Given the description of an element on the screen output the (x, y) to click on. 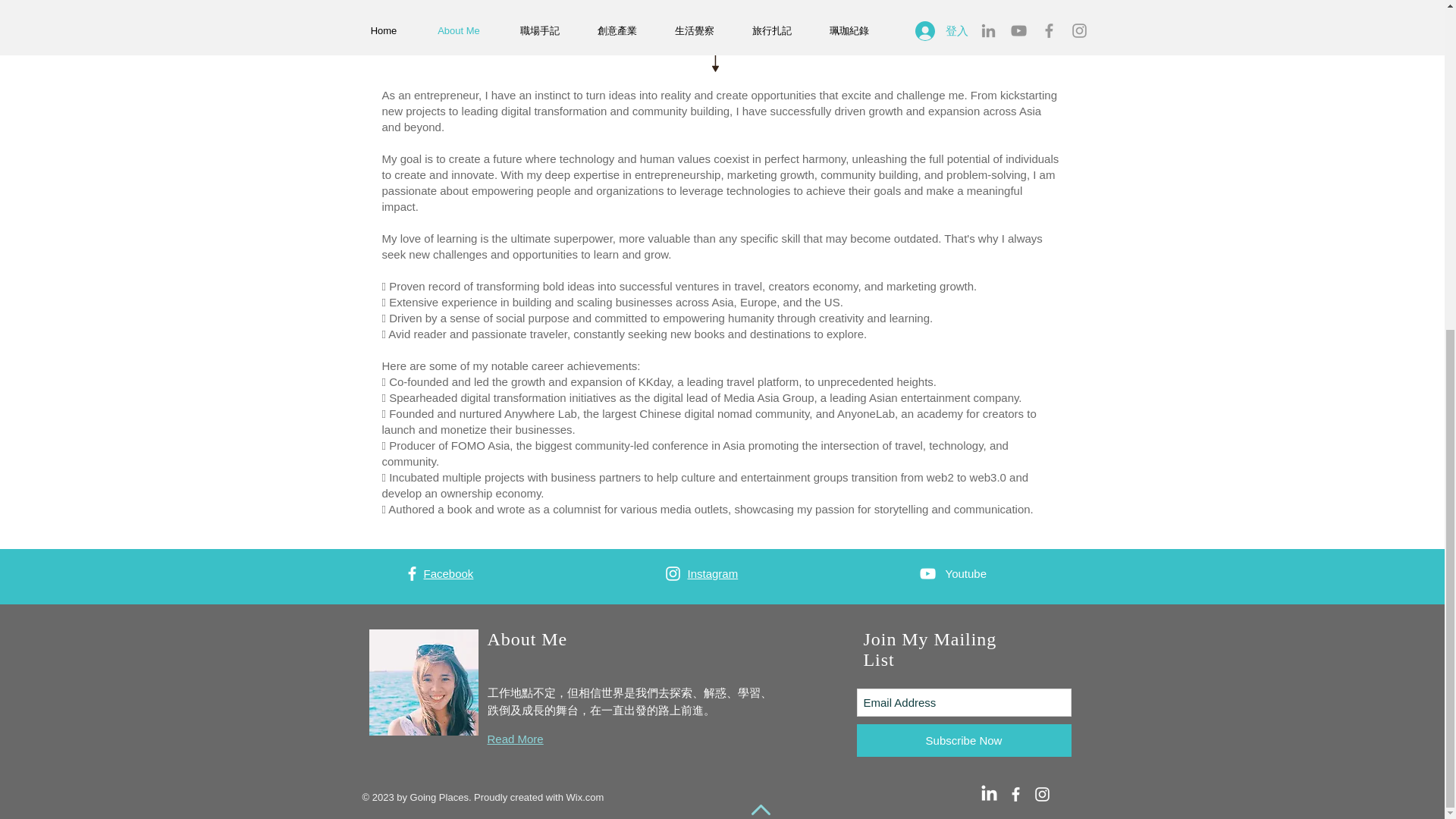
Youtube (965, 573)
Subscribe Now (964, 739)
Read More (514, 738)
Facebook (448, 573)
Wix.com (585, 797)
Instagram (712, 573)
